Given the description of an element on the screen output the (x, y) to click on. 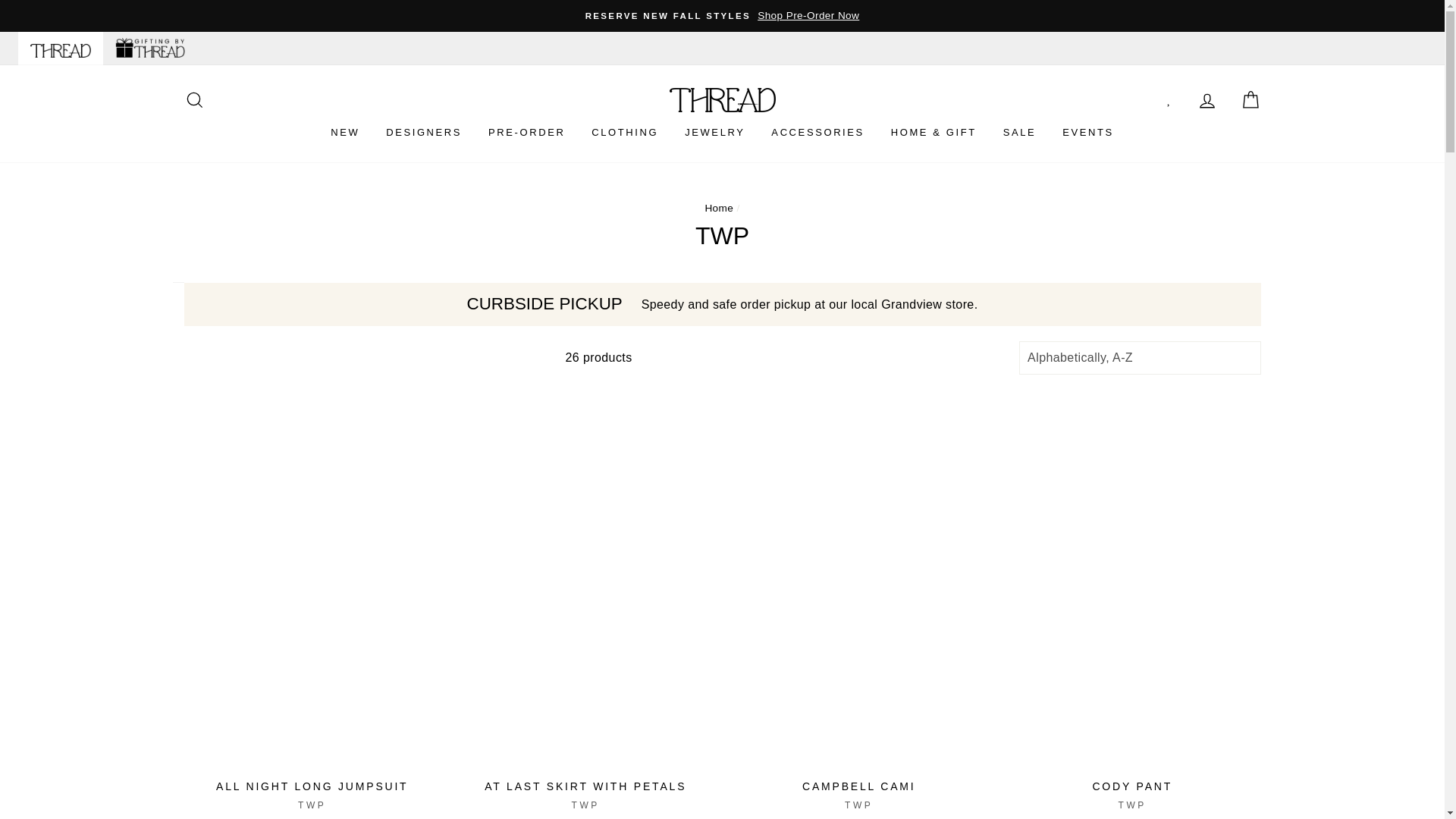
Gifting by THREAD (149, 48)
Shop THREAD Online (60, 48)
Back to the frontpage (718, 207)
